Given the description of an element on the screen output the (x, y) to click on. 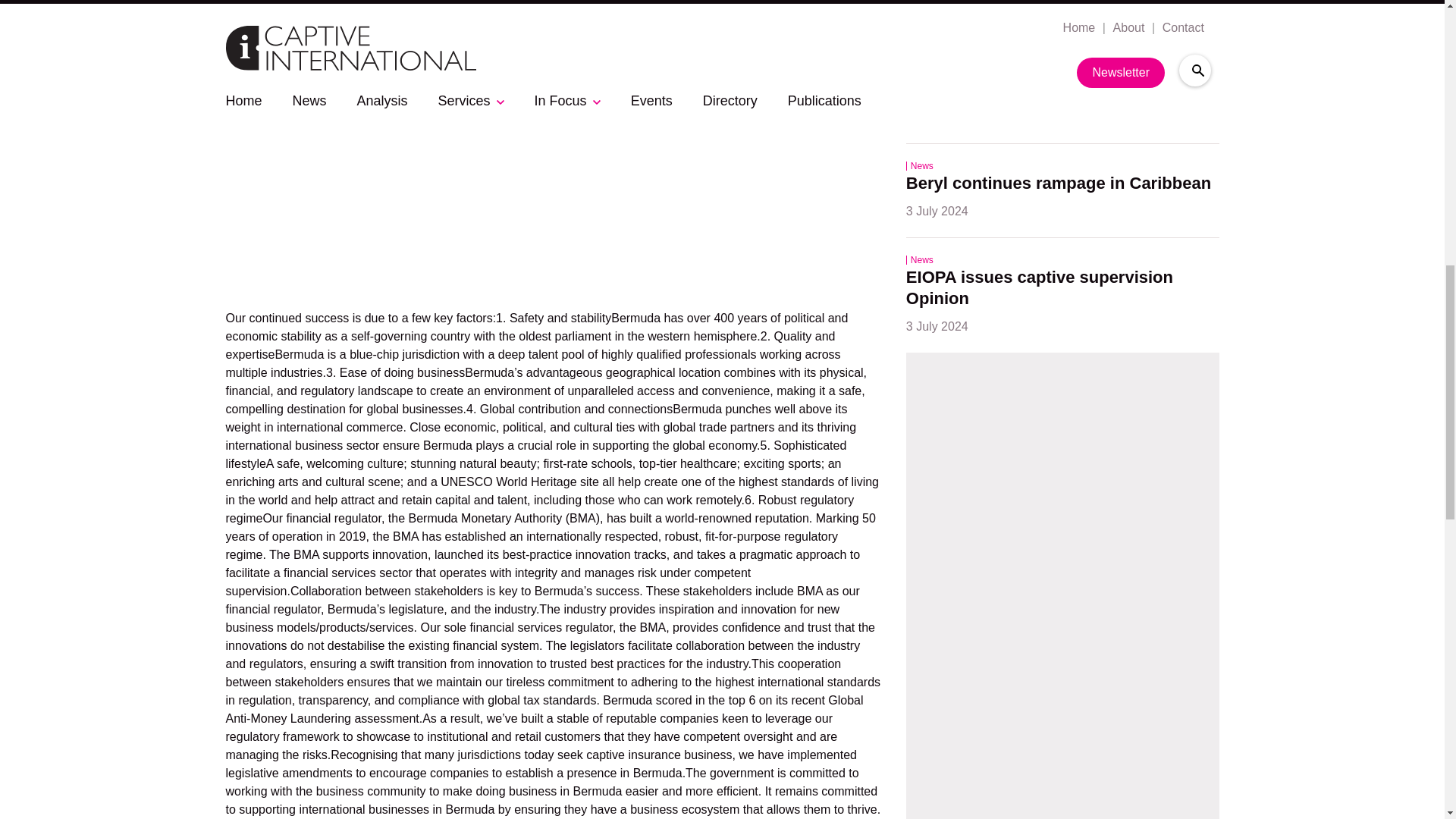
3rd party ad content (552, 165)
New York captive created to help tenants (1037, 79)
Beryl continues rampage in Caribbean (1058, 183)
3rd party ad content (1062, 597)
